Given the description of an element on the screen output the (x, y) to click on. 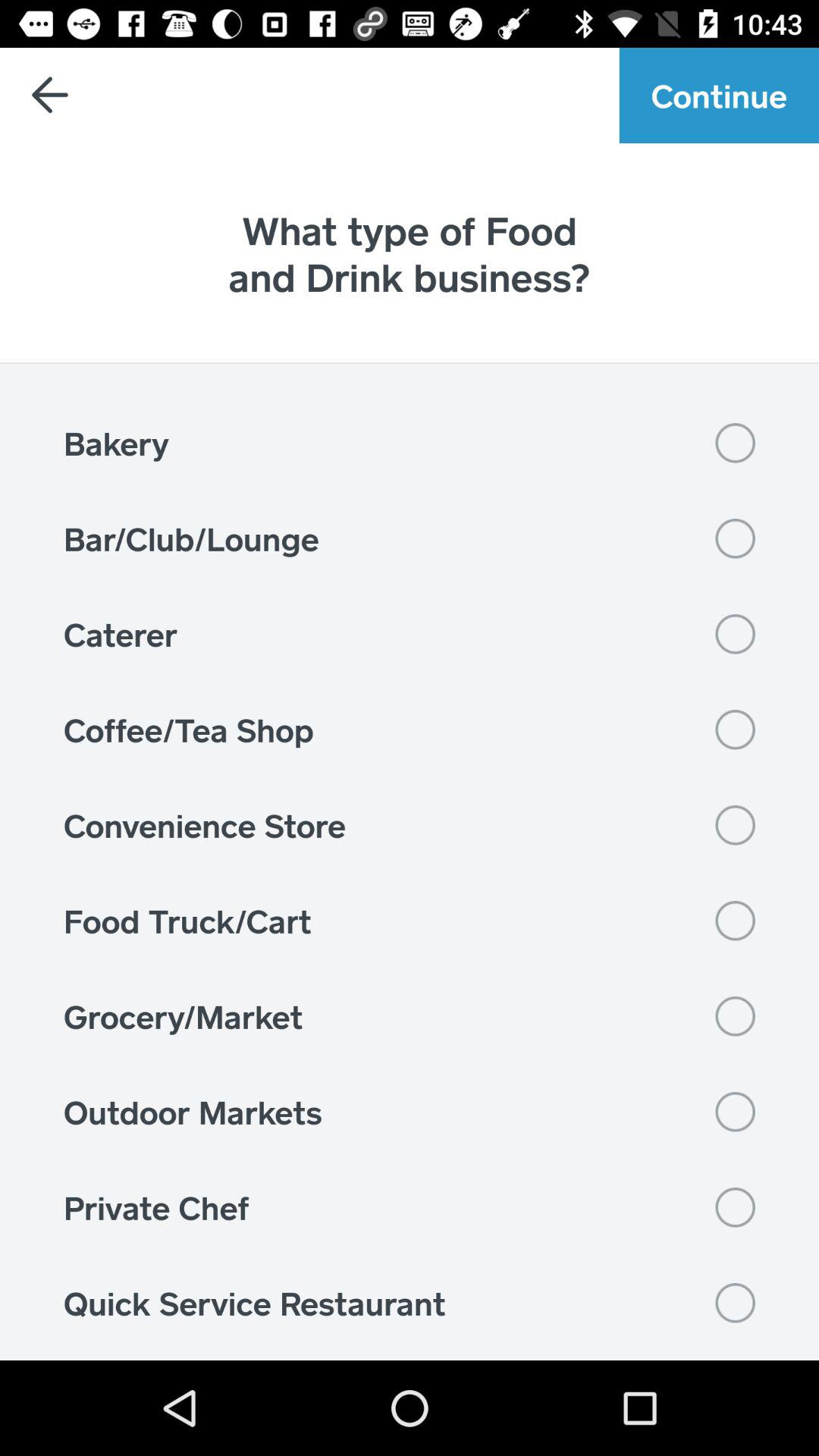
select the continue at the top right corner (719, 95)
